Given the description of an element on the screen output the (x, y) to click on. 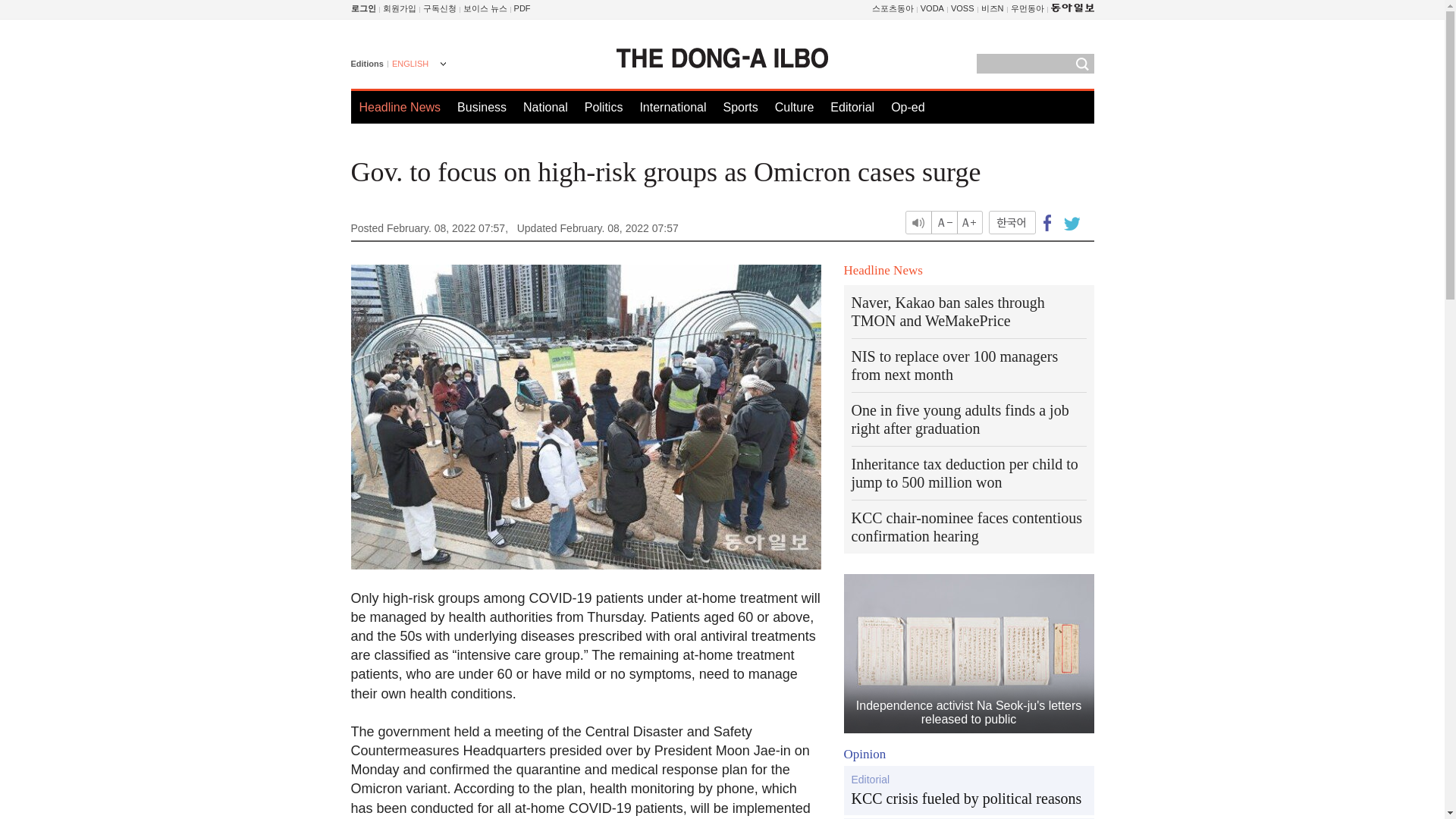
Op-ed (907, 106)
Share this article on Facebook (1047, 222)
VODA (931, 8)
National (544, 106)
VOSS (962, 8)
Font size up (969, 222)
Sports (739, 106)
ENGLISH (416, 65)
Font size down (944, 222)
VOICE (484, 8)
VOSS (962, 8)
BIZN (992, 8)
Politics (604, 106)
Share this article on Twitter (1069, 222)
International (672, 106)
